Given the description of an element on the screen output the (x, y) to click on. 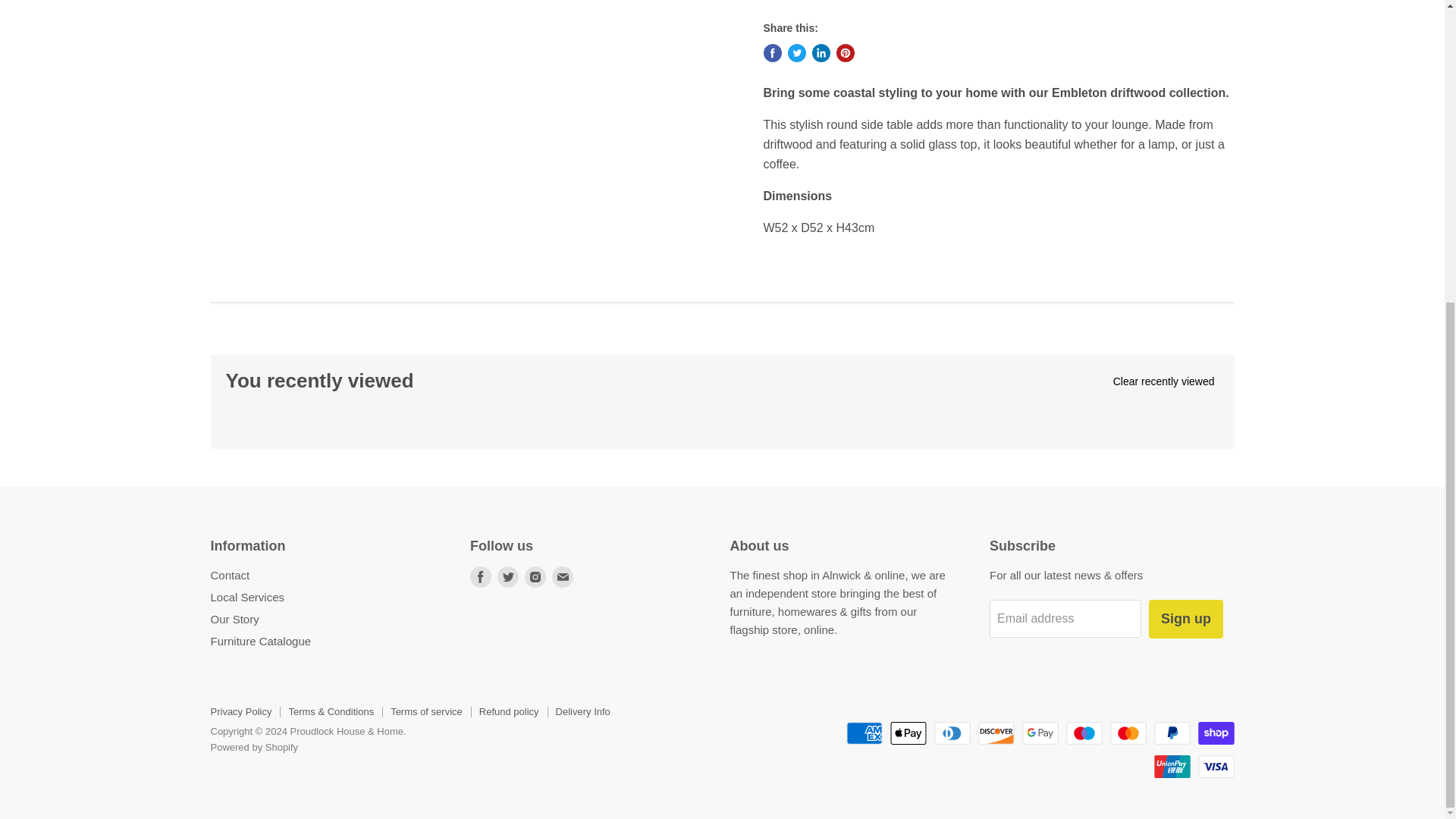
Facebook (481, 577)
E-mail (562, 577)
Twitter (507, 577)
Instagram (535, 577)
